Given the description of an element on the screen output the (x, y) to click on. 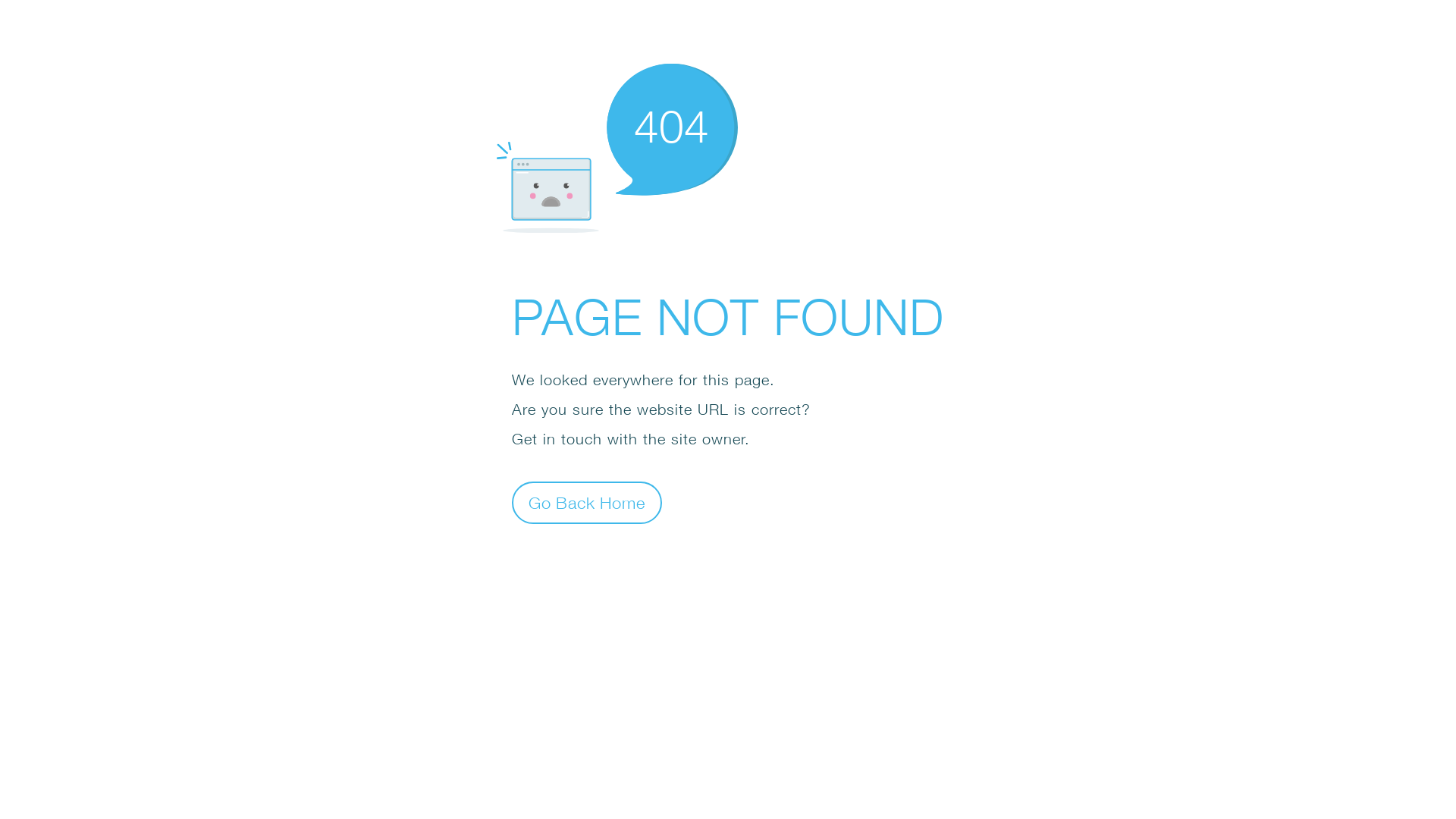
Go Back Home Element type: text (586, 502)
